Given the description of an element on the screen output the (x, y) to click on. 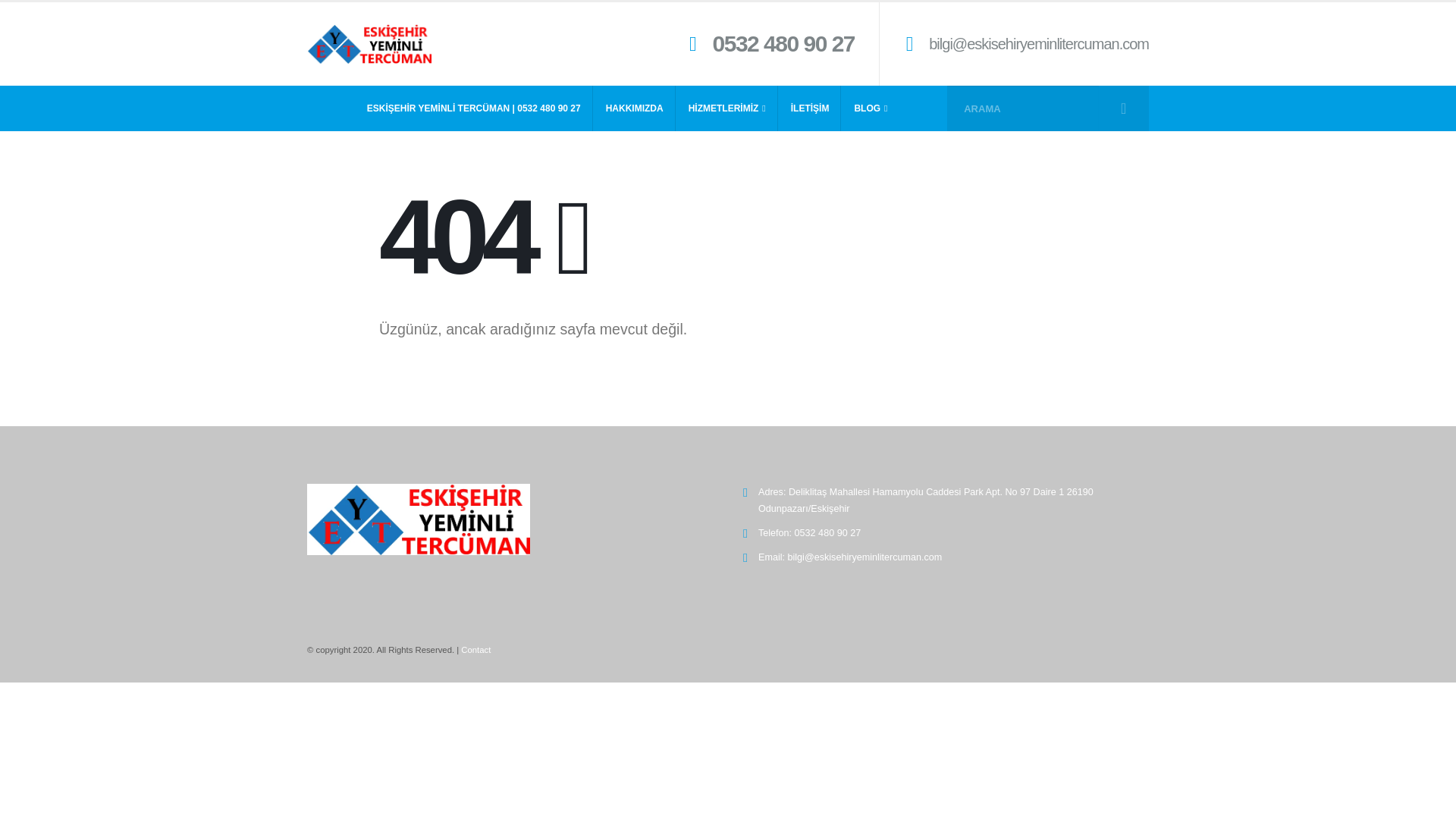
BLOG (870, 108)
Arama (1122, 108)
HAKKIMIZDA (634, 108)
HIZMETLERIMIZ (727, 108)
